Given the description of an element on the screen output the (x, y) to click on. 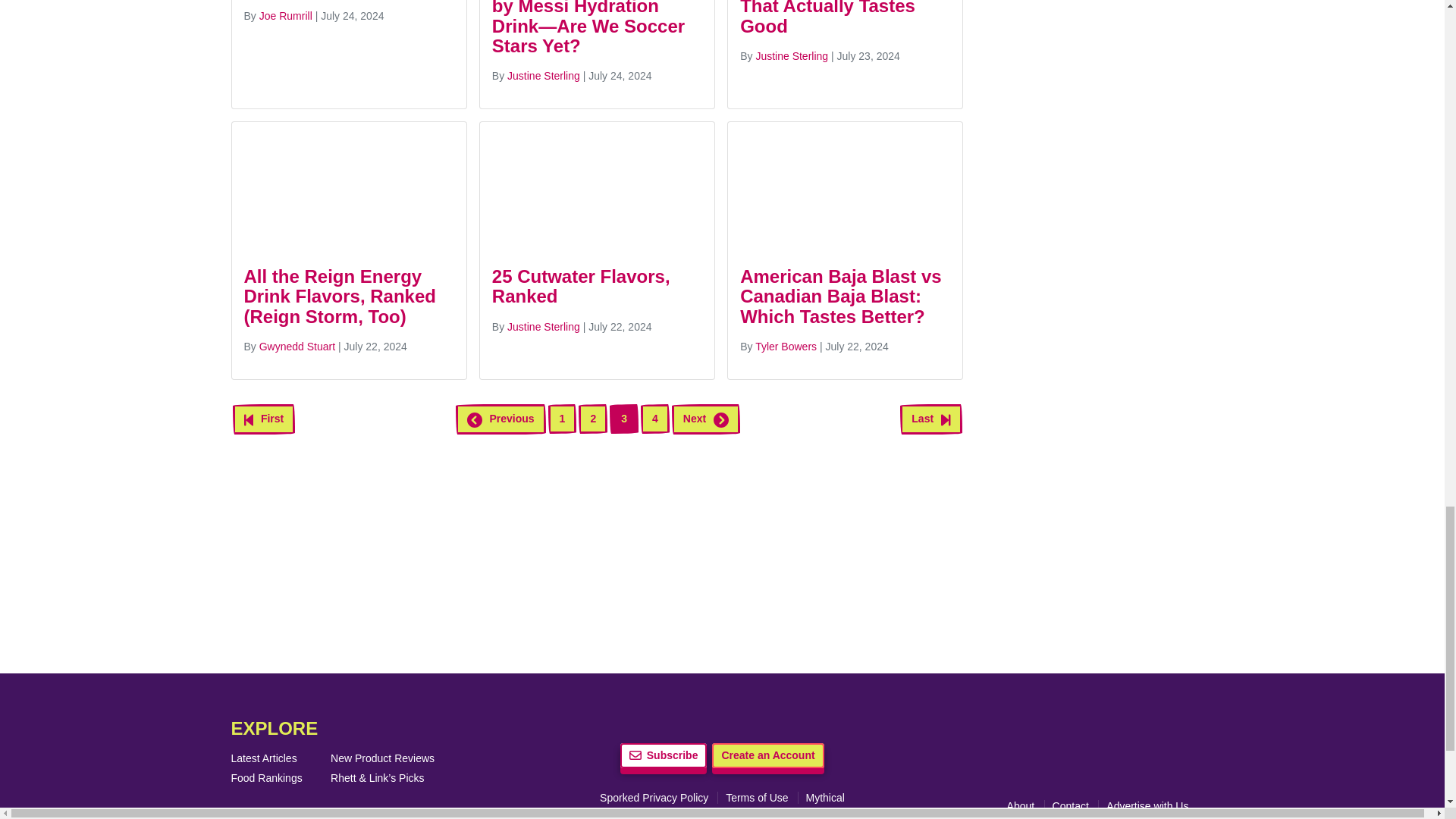
Posts by Gwynedd Stuart (296, 346)
Posts by Justine Sterling (791, 55)
Posts by Justine Sterling (542, 326)
Posts by Joe Rumrill (286, 15)
Posts by Justine Sterling (542, 75)
